Given the description of an element on the screen output the (x, y) to click on. 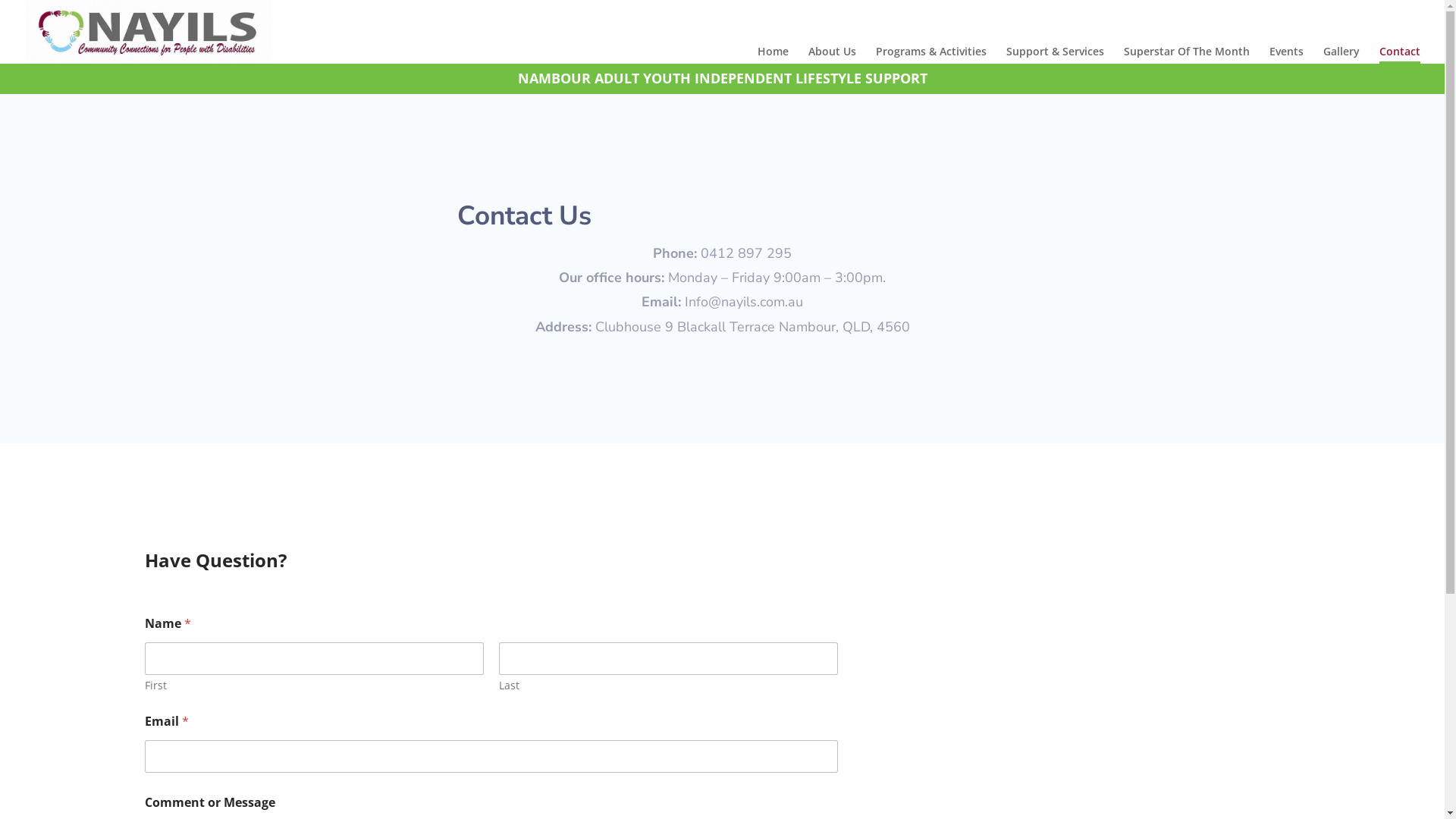
About Us Element type: text (832, 53)
Superstar Of The Month Element type: text (1186, 53)
Events Element type: text (1286, 53)
Gallery Element type: text (1341, 53)
Contact Element type: text (1399, 54)
Support & Services Element type: text (1055, 53)
Home Element type: text (772, 53)
Programs & Activities Element type: text (930, 53)
